Given the description of an element on the screen output the (x, y) to click on. 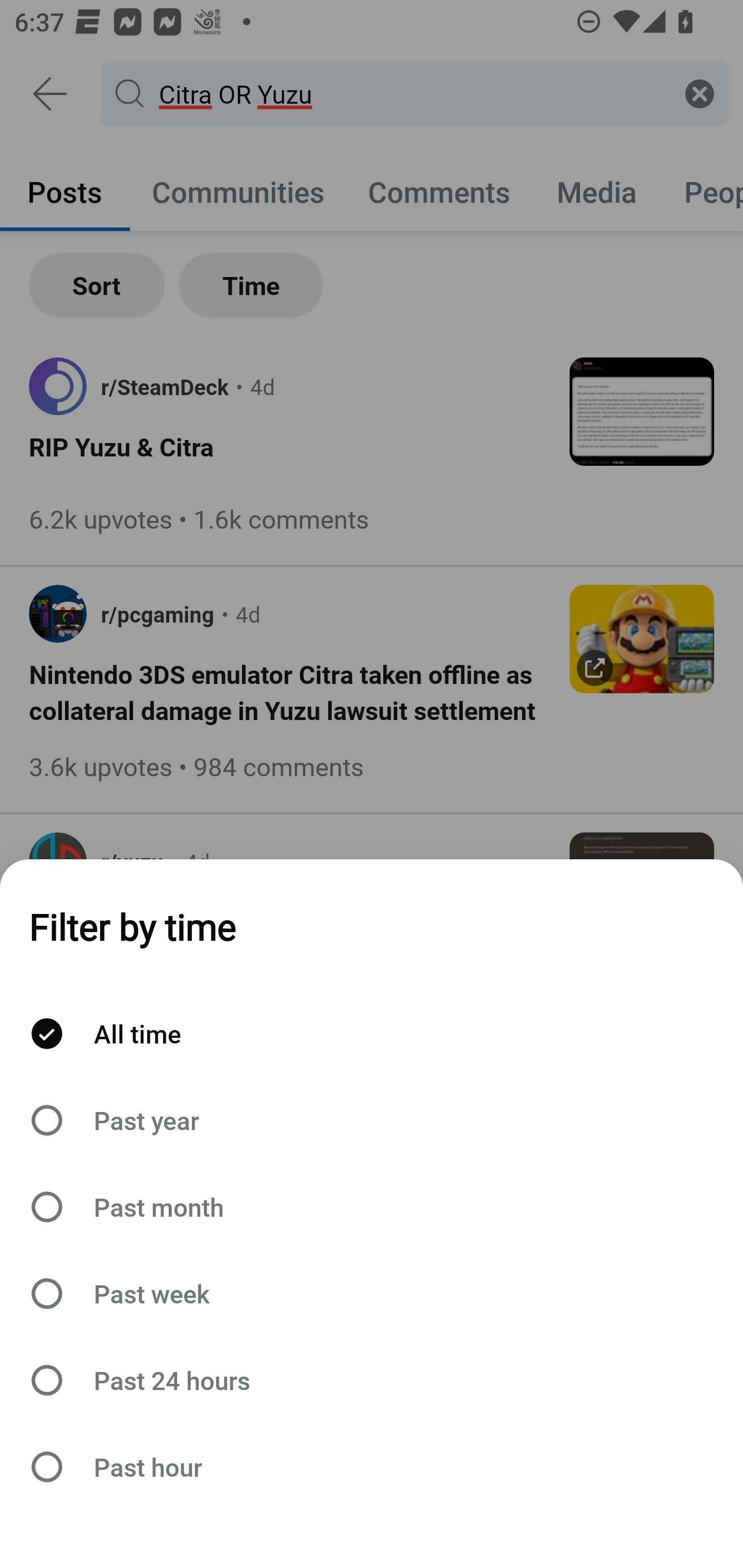
Filter by All time All time (371, 1033)
Filter by Past year Past year (371, 1120)
Filter by Past month Past month (371, 1206)
Filter by Past week Past week (371, 1293)
Filter by Past 24 hours Past 24 hours (371, 1380)
Filter by Past hour Past hour (371, 1466)
